Given the description of an element on the screen output the (x, y) to click on. 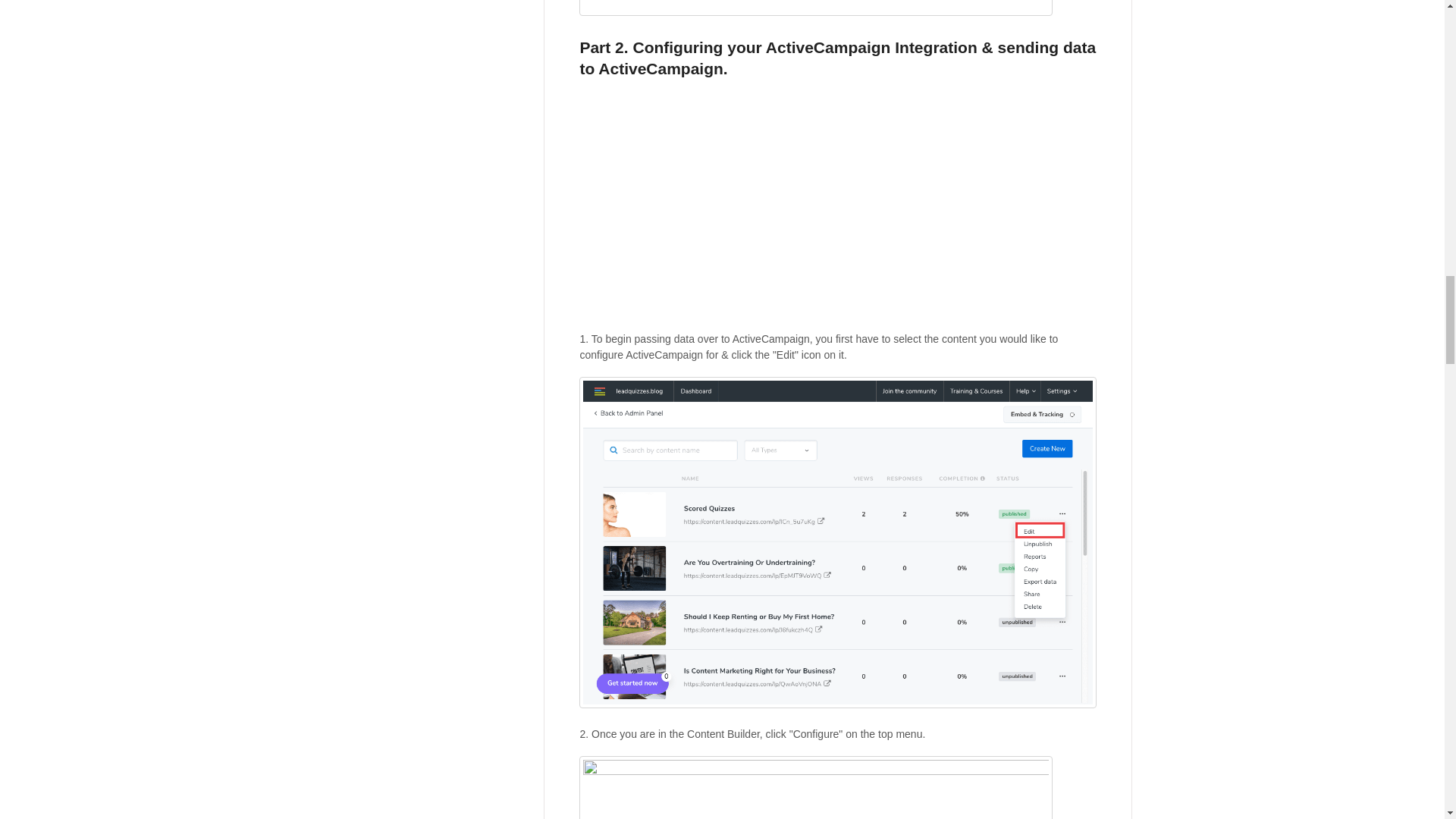
YouTube video player (791, 209)
